Given the description of an element on the screen output the (x, y) to click on. 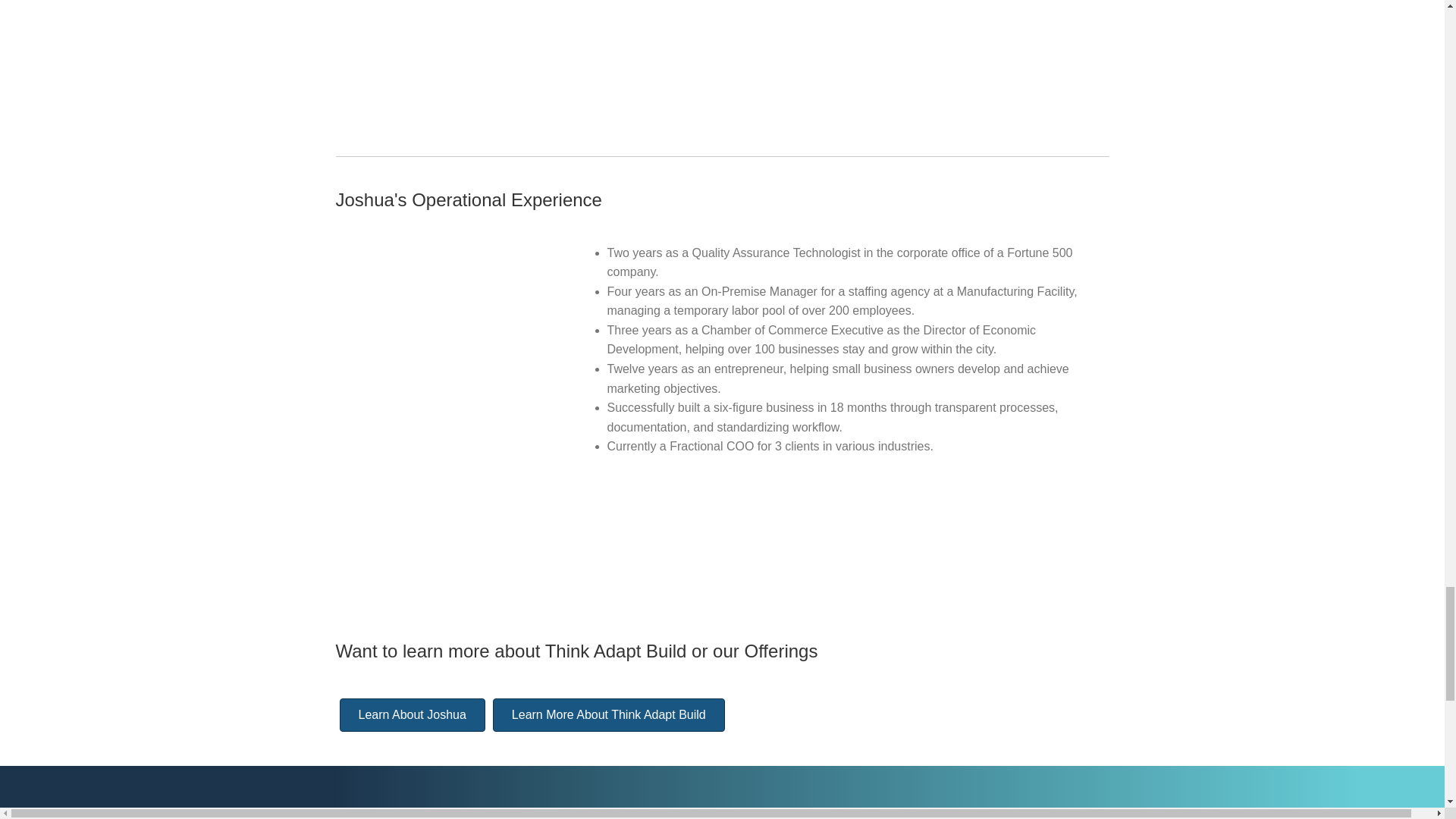
Learn More About Think Adapt Build (609, 715)
Fractional Elite Collective (838, 551)
Joshua BIO Pic Tulsa (440, 374)
Learn About Joshua (411, 715)
